Given the description of an element on the screen output the (x, y) to click on. 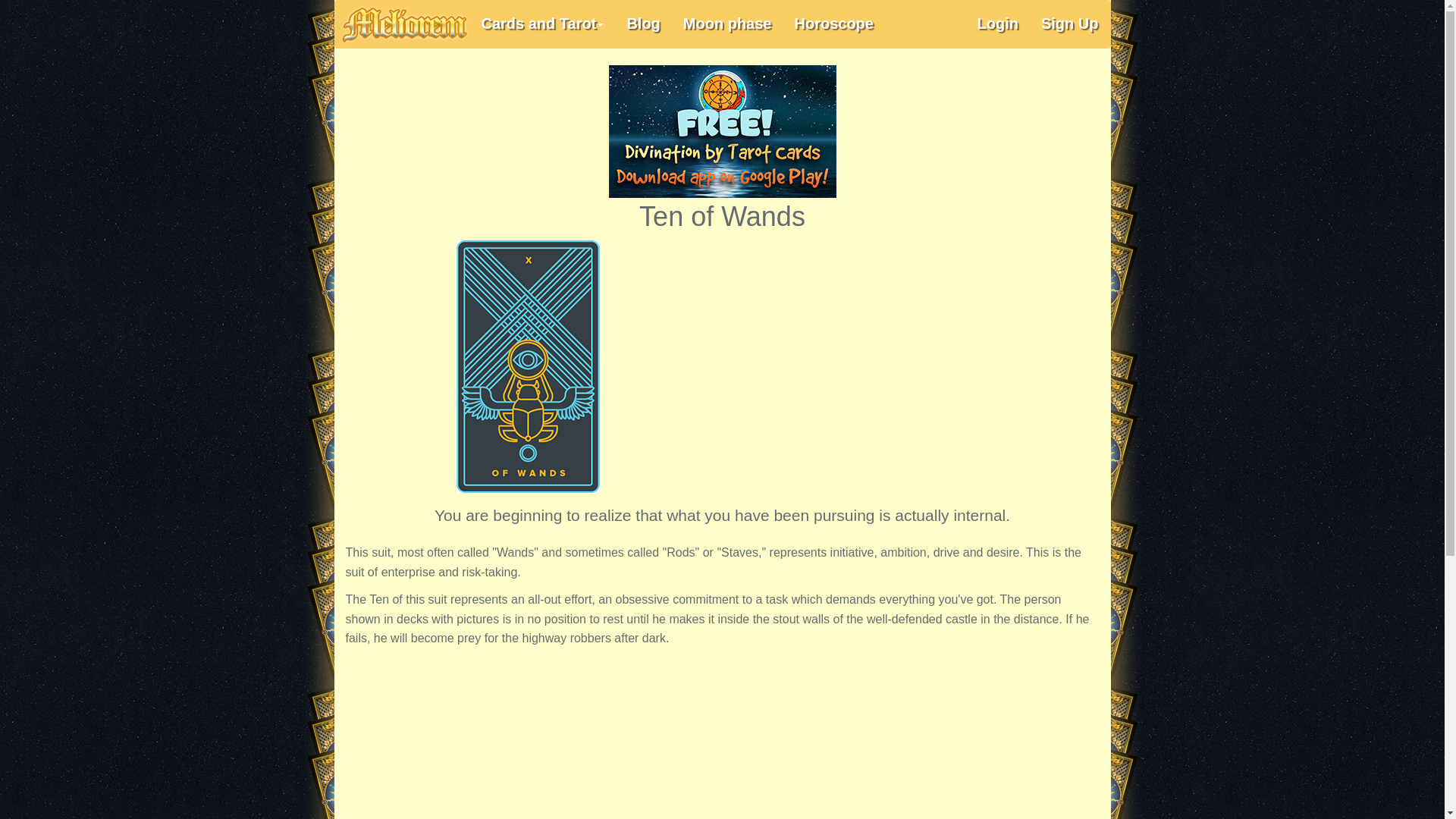
Cards and Tarot (542, 23)
Login (997, 23)
Blog (642, 23)
Moon phase (727, 23)
Advertisement (884, 354)
Advertisement (722, 737)
Sign Up (1069, 23)
Horoscope (833, 23)
